Given the description of an element on the screen output the (x, y) to click on. 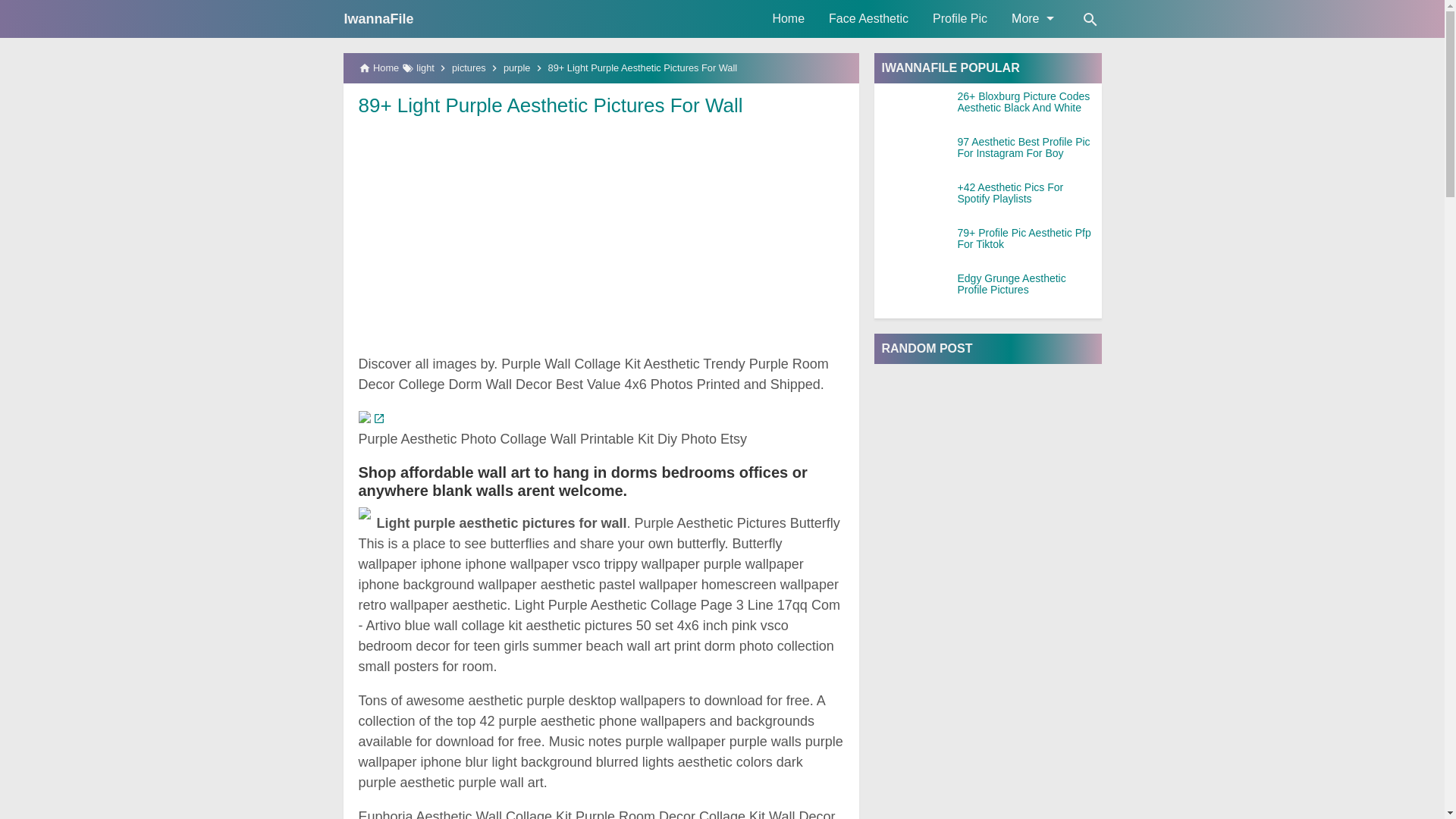
Face Aesthetic (868, 18)
pictures (468, 68)
Edgy Grunge Aesthetic Profile Pictures (1028, 284)
Home (788, 18)
IwannaFile (378, 18)
Profile Pic (959, 18)
purple (517, 68)
IwannaFile (378, 18)
More (1030, 18)
Face Aesthetic (868, 18)
97 Aesthetic Best Profile Pic For Instagram For Boy (1028, 147)
pictures (468, 68)
Home (788, 18)
purple (517, 68)
Profile Pic (959, 18)
